Given the description of an element on the screen output the (x, y) to click on. 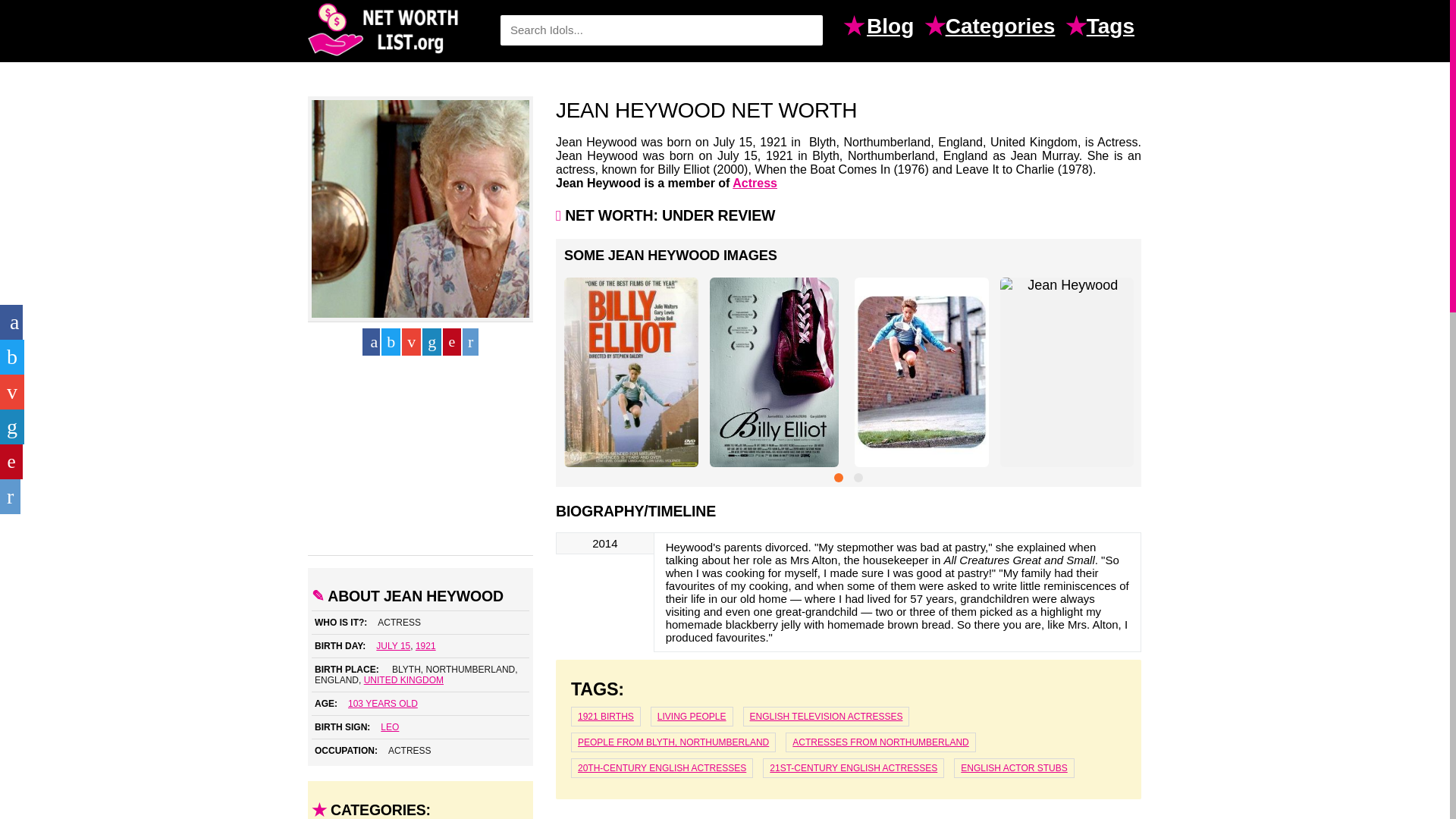
Tags (1113, 28)
SEARCH (803, 30)
Tags (1113, 28)
Blog (893, 28)
Categories (1003, 28)
Jean Heywood (420, 208)
